Given the description of an element on the screen output the (x, y) to click on. 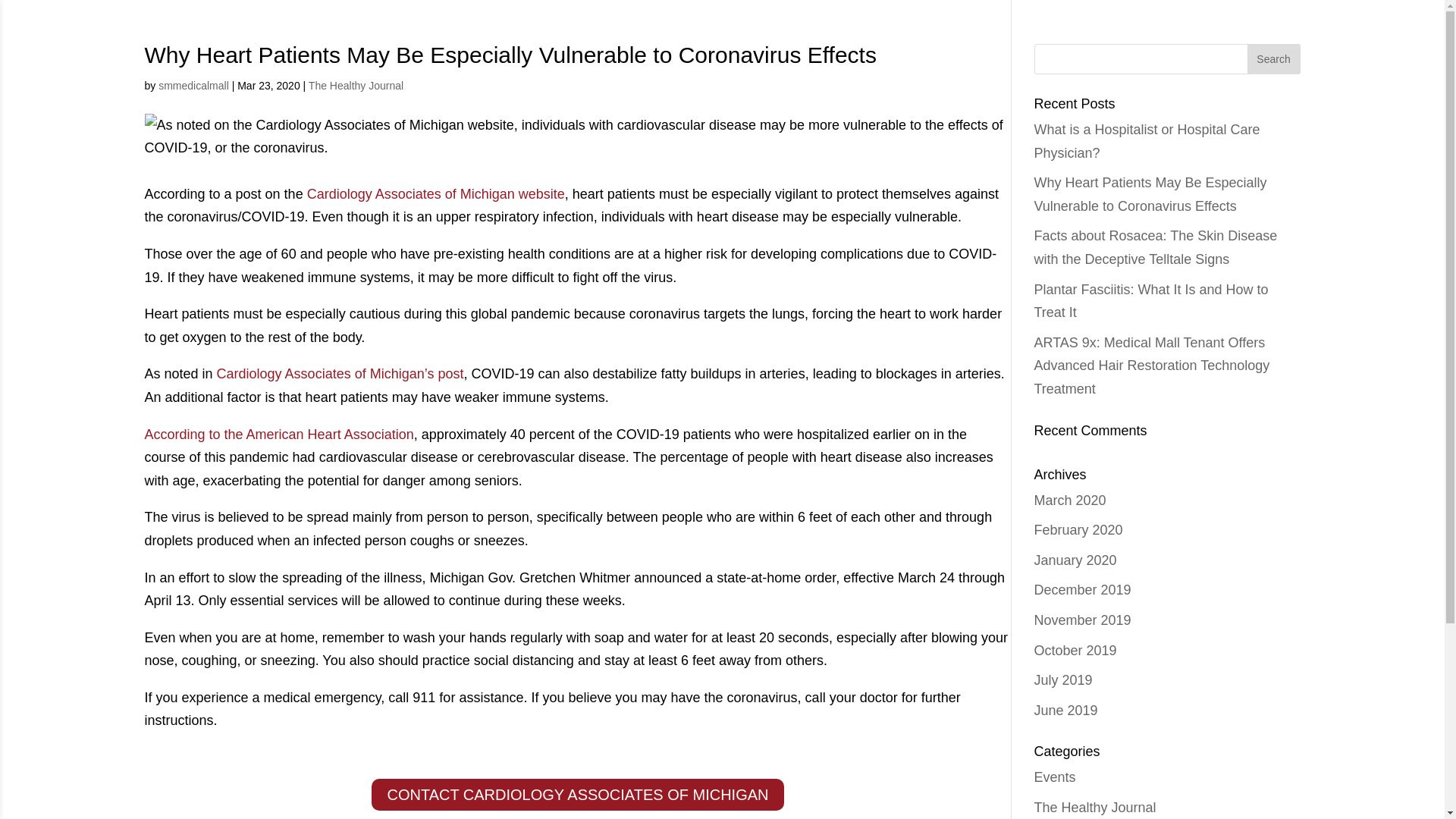
The Healthy Journal (355, 85)
smmedicalmall (193, 85)
What is a Hospitalist or Hospital Care Physician? (1146, 141)
February 2020 (1077, 529)
November 2019 (1082, 620)
Search (1273, 59)
Plantar Fasciitis: What It Is and How to Treat It (1150, 301)
The Healthy Journal (1094, 807)
July 2019 (1063, 679)
Events (1054, 776)
CONTACT CARDIOLOGY ASSOCIATES OF MICHIGAN (577, 794)
December 2019 (1082, 589)
According to the American Heart Association (278, 434)
June 2019 (1065, 710)
